Given the description of an element on the screen output the (x, y) to click on. 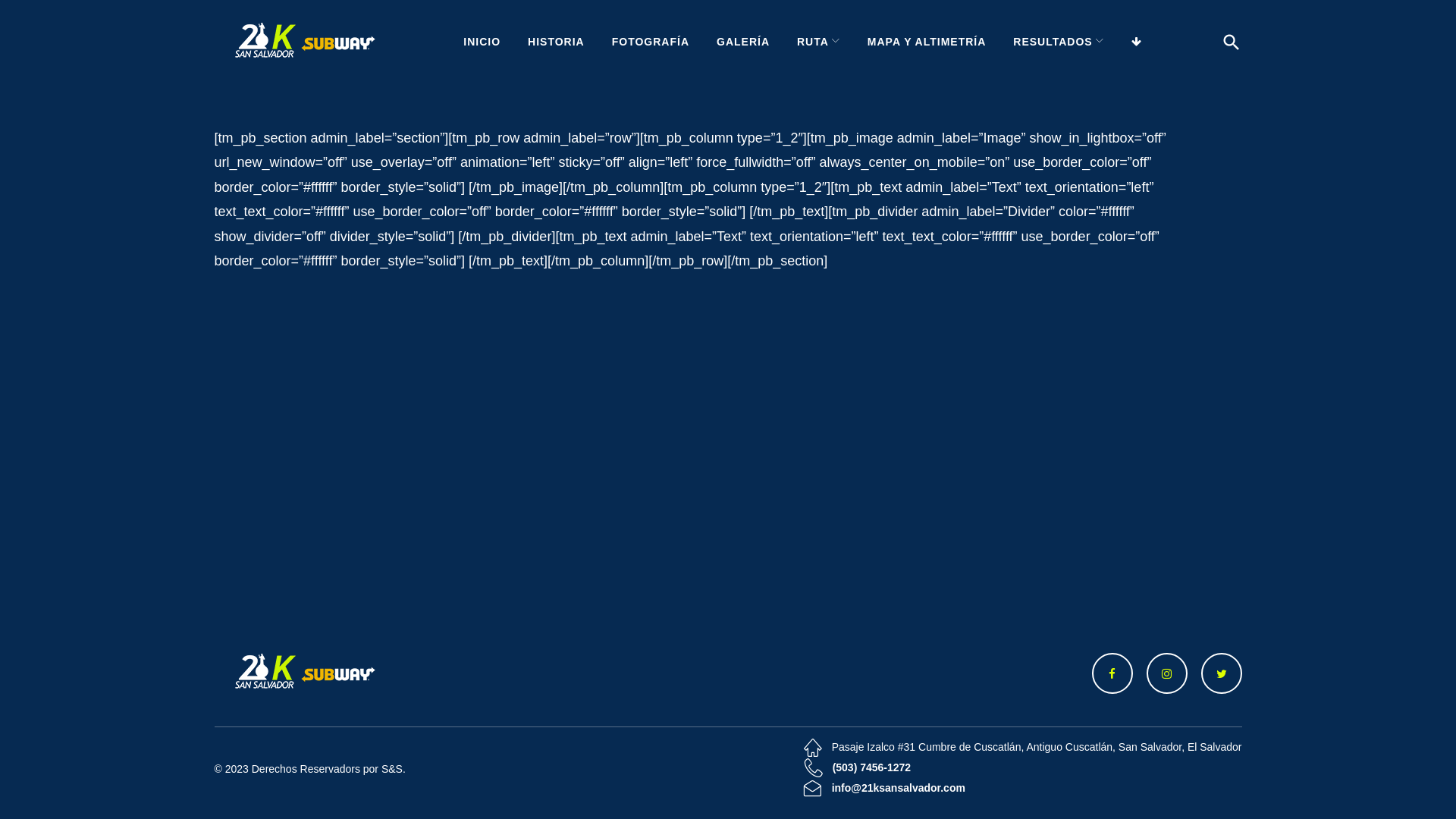
(503) 7456-1272 Element type: text (871, 768)
INICIO Element type: text (481, 41)
Twitter Element type: text (1221, 672)
HISTORIA Element type: text (555, 41)
info@21ksansalvador.com Element type: text (898, 788)
Facebook Element type: text (1112, 672)
RUTA Element type: text (818, 41)
RESULTADOS Element type: text (1058, 41)
Instagram Element type: text (1166, 672)
